Given the description of an element on the screen output the (x, y) to click on. 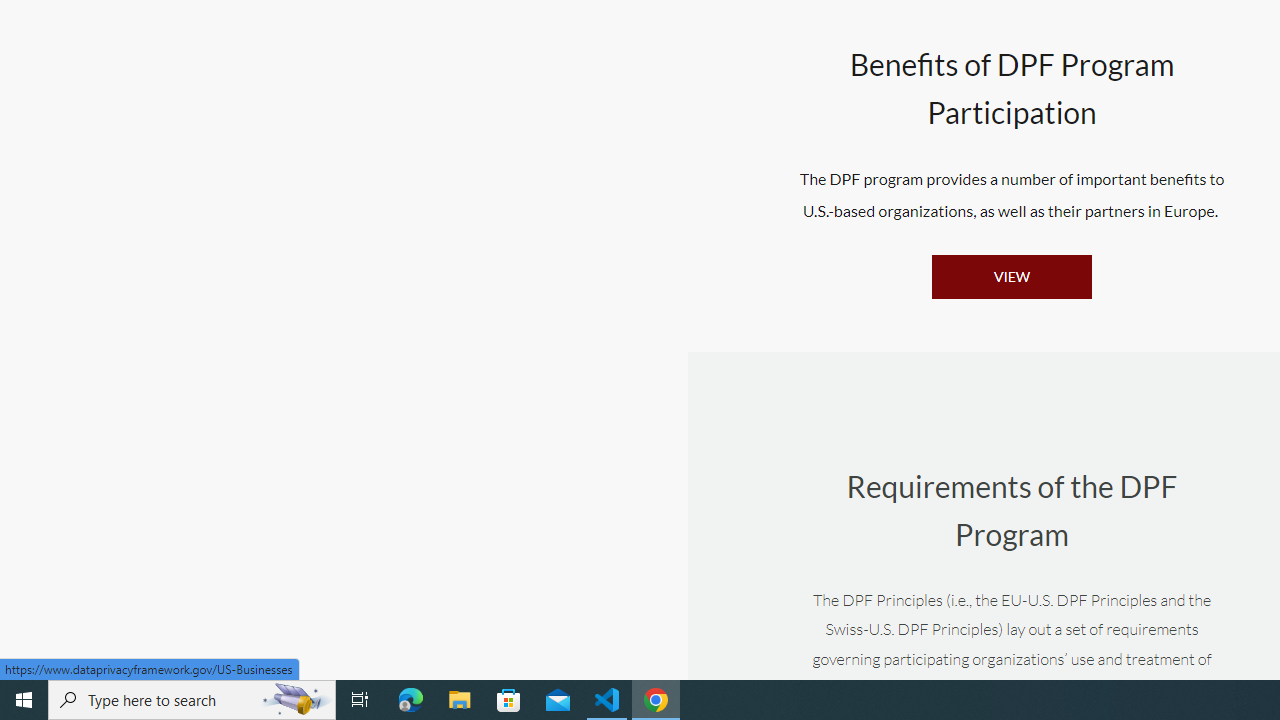
VIEW (1011, 276)
